Given the description of an element on the screen output the (x, y) to click on. 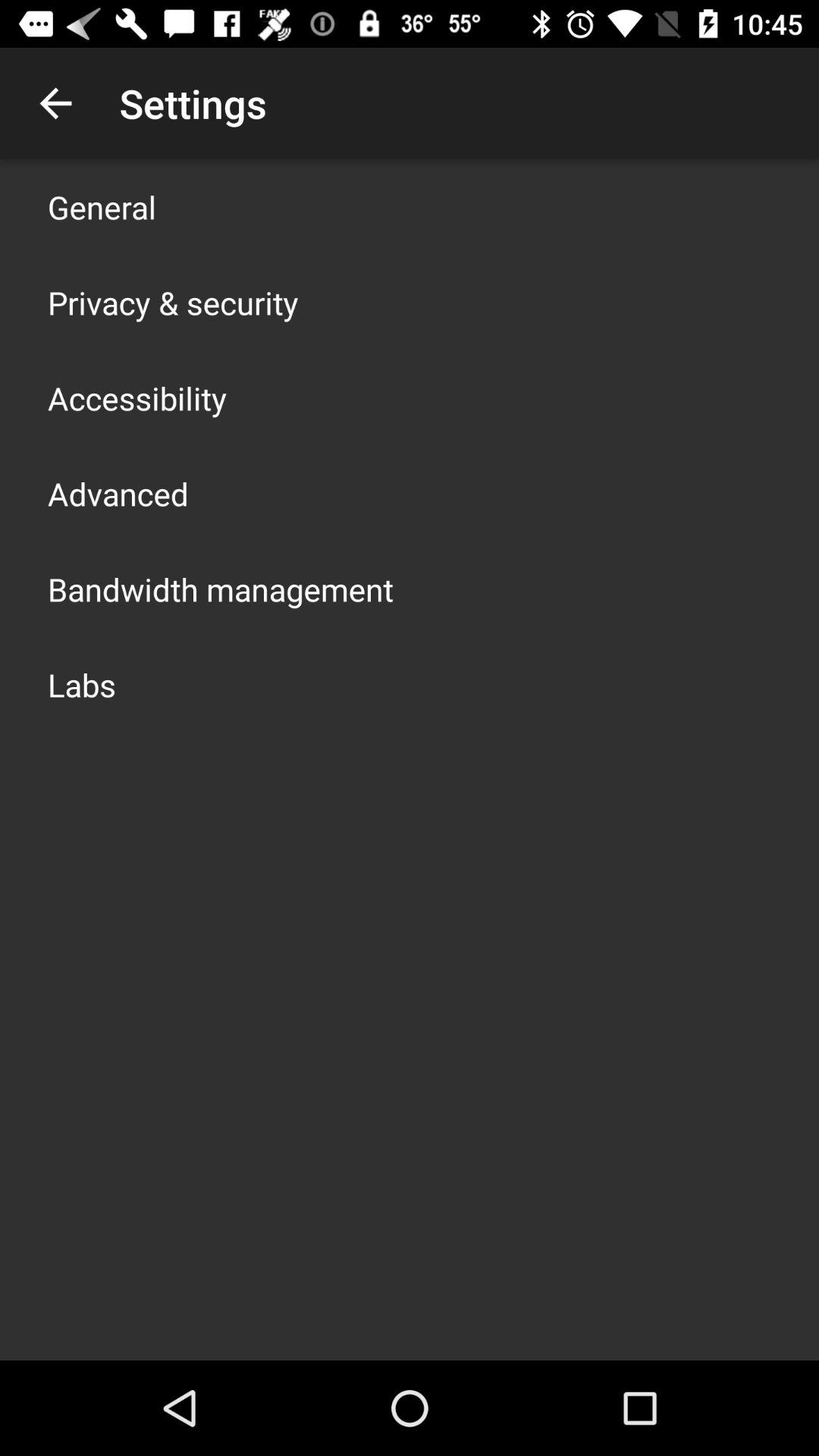
flip to labs app (81, 684)
